Given the description of an element on the screen output the (x, y) to click on. 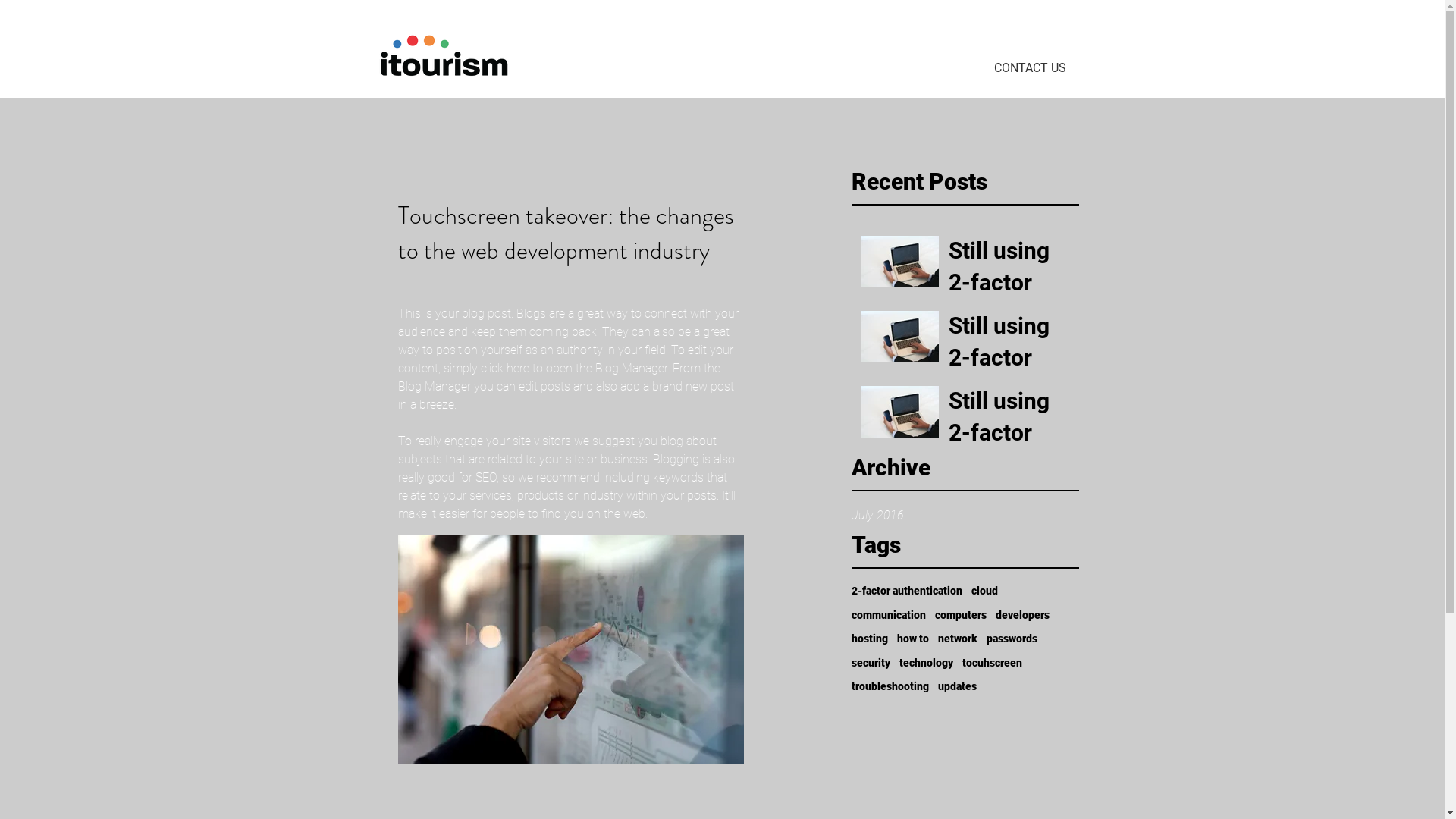
cloud Element type: text (983, 591)
Still using 2-factor authentication? Think again... Element type: text (1008, 360)
computers Element type: text (959, 615)
passwords Element type: text (1010, 638)
2-factor authentication Element type: text (905, 591)
Still using 2-factor authentication? Think again... Element type: text (1008, 285)
July 2016 Element type: text (964, 515)
tocuhscreen Element type: text (991, 663)
developers Element type: text (1021, 615)
CONTACT US Element type: text (1029, 67)
technology Element type: text (926, 663)
security Element type: text (869, 663)
communication Element type: text (887, 615)
network Element type: text (956, 638)
Still using 2-factor authentication? Think again... Element type: text (1008, 435)
updates Element type: text (956, 686)
troubleshooting Element type: text (889, 686)
hosting Element type: text (868, 638)
how to Element type: text (912, 638)
